Given the description of an element on the screen output the (x, y) to click on. 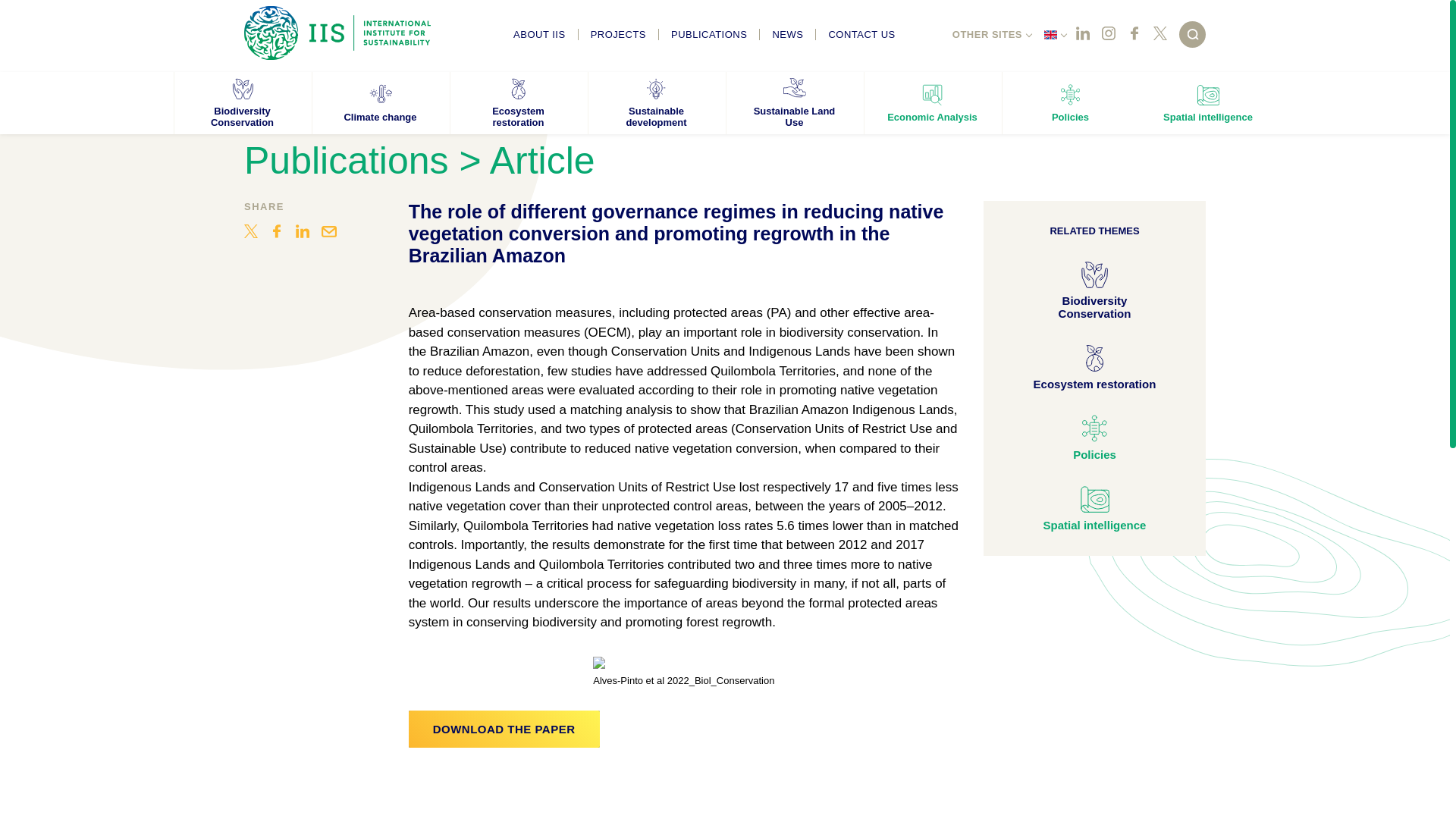
ABOUT IIS (539, 34)
OTHER SITES (987, 34)
CONTACT US (861, 34)
NEWS (787, 34)
PUBLICATIONS (709, 34)
PROJECTS (618, 34)
